Given the description of an element on the screen output the (x, y) to click on. 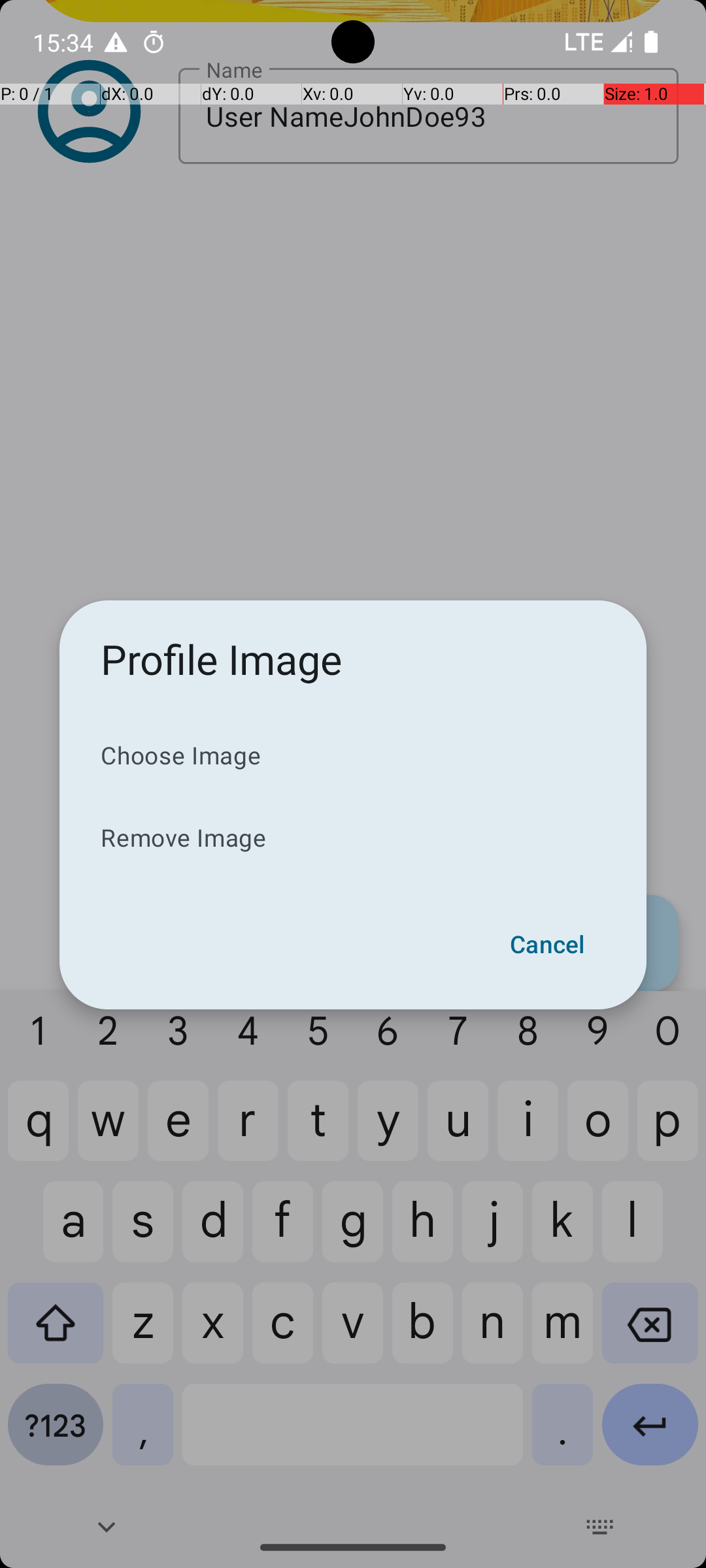
Profile Image Element type: android.widget.TextView (221, 658)
Choose Image Element type: android.widget.TextView (352, 755)
Remove Image Element type: android.widget.TextView (352, 837)
